Given the description of an element on the screen output the (x, y) to click on. 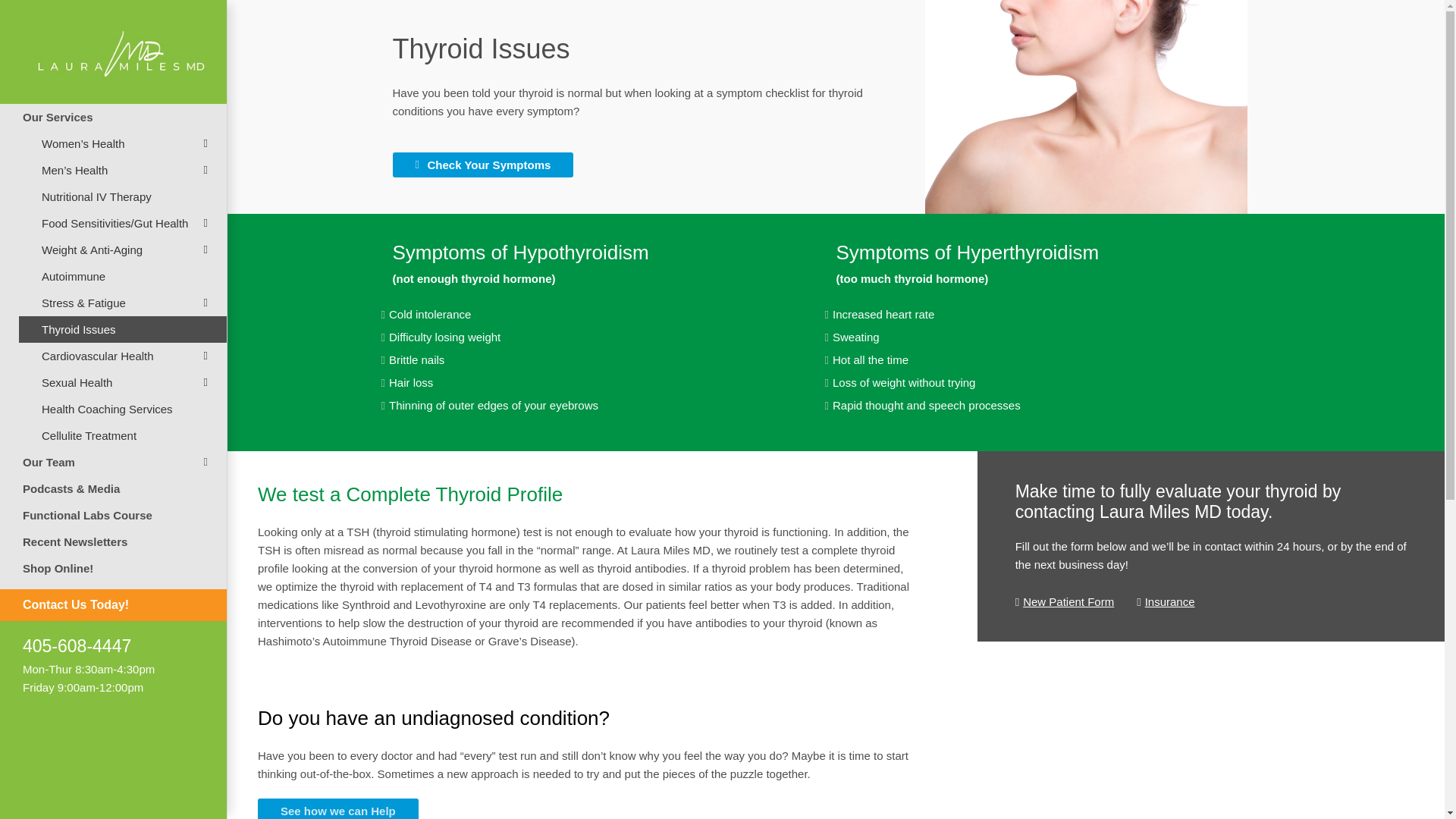
Our Services (113, 117)
Thyroid Issues (122, 329)
Cellulite Treatment (122, 435)
Nutritional IV Therapy (122, 196)
Our Team (113, 461)
Autoimmune (122, 275)
Thyroid Issues Oklahoma City Doctor (1085, 106)
Cardiovascular Health (122, 356)
Sexual Health (122, 382)
Health Coaching Services (122, 408)
